Given the description of an element on the screen output the (x, y) to click on. 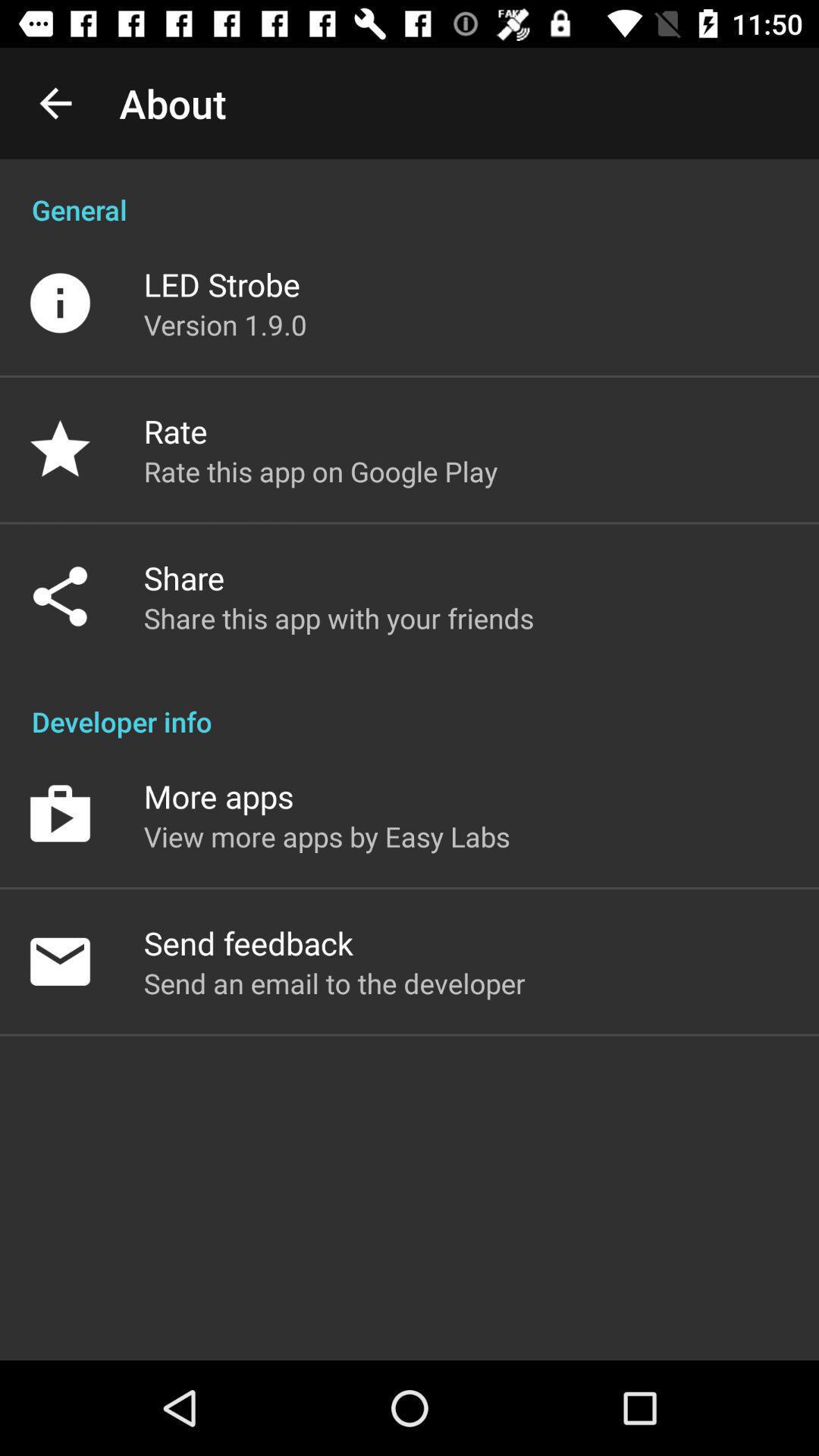
select the developer info item (409, 705)
